Given the description of an element on the screen output the (x, y) to click on. 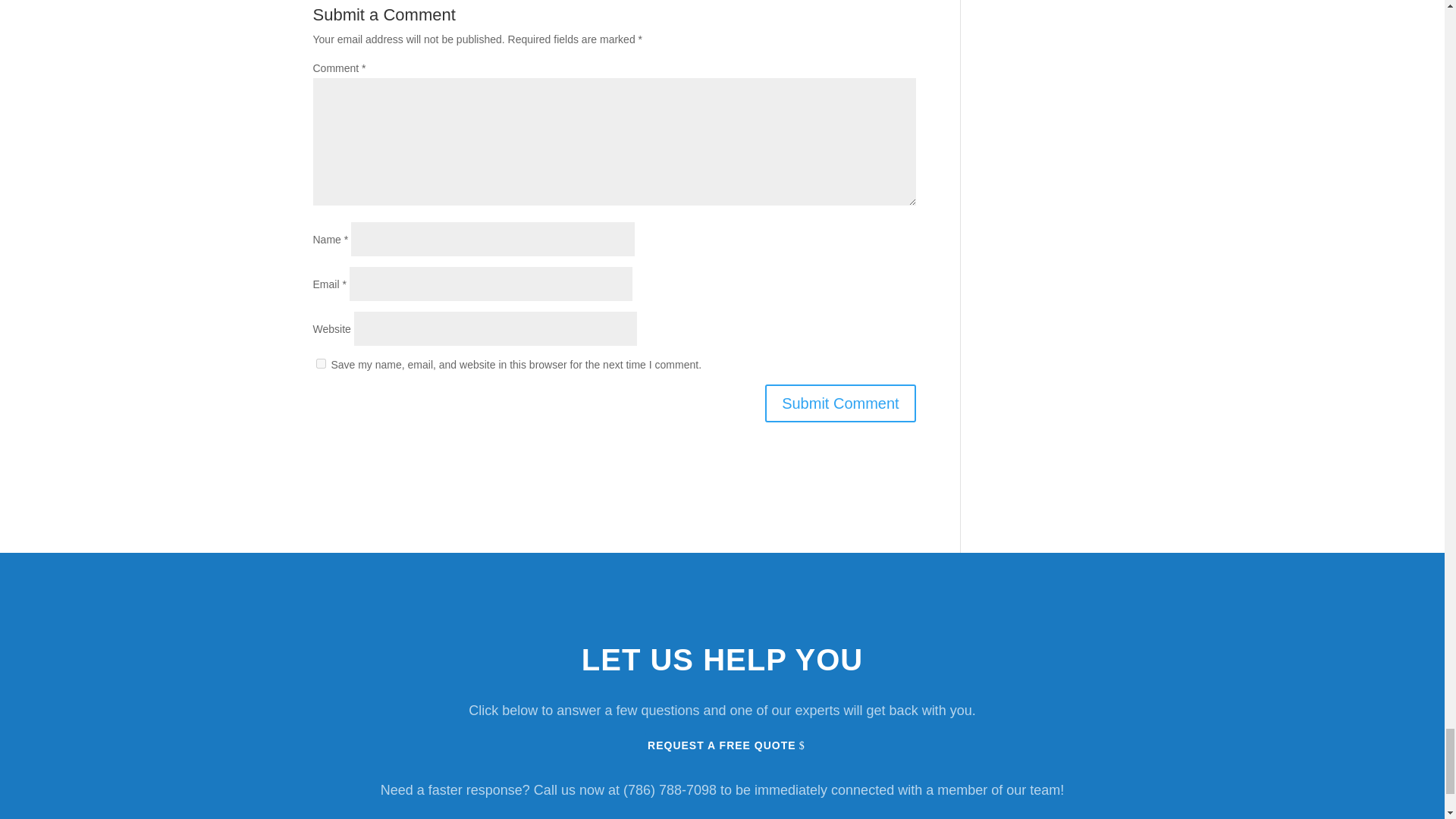
CALL FOR IMMEDIATE ASSISTANCE (721, 817)
REQUEST A FREE QUOTE (721, 746)
yes (319, 363)
Submit Comment (840, 403)
Submit Comment (840, 403)
